Given the description of an element on the screen output the (x, y) to click on. 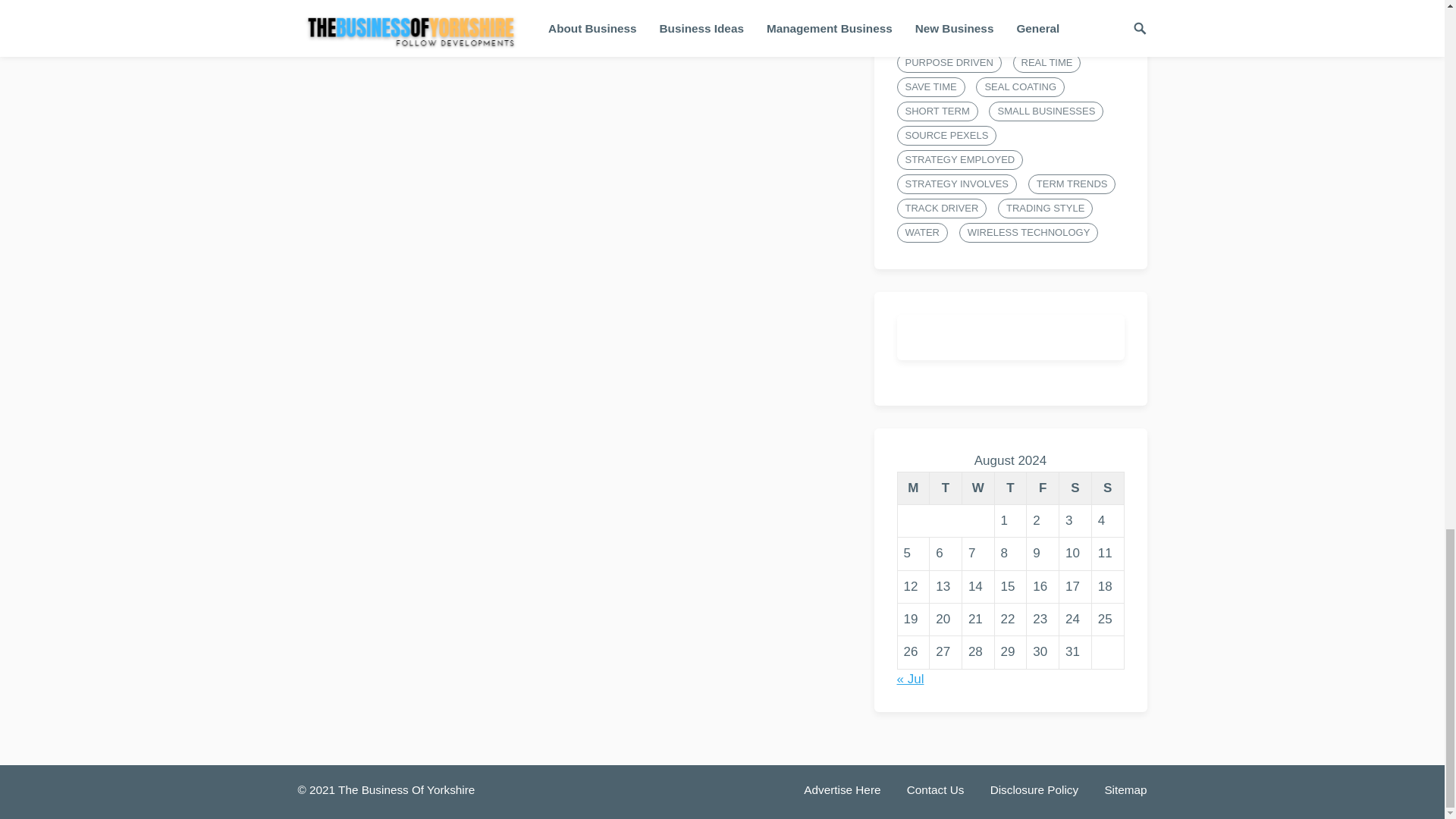
Friday (1042, 487)
Saturday (1075, 487)
Wednesday (977, 487)
Tuesday (946, 487)
Thursday (1010, 487)
Monday (913, 487)
Sunday (1107, 487)
